Given the description of an element on the screen output the (x, y) to click on. 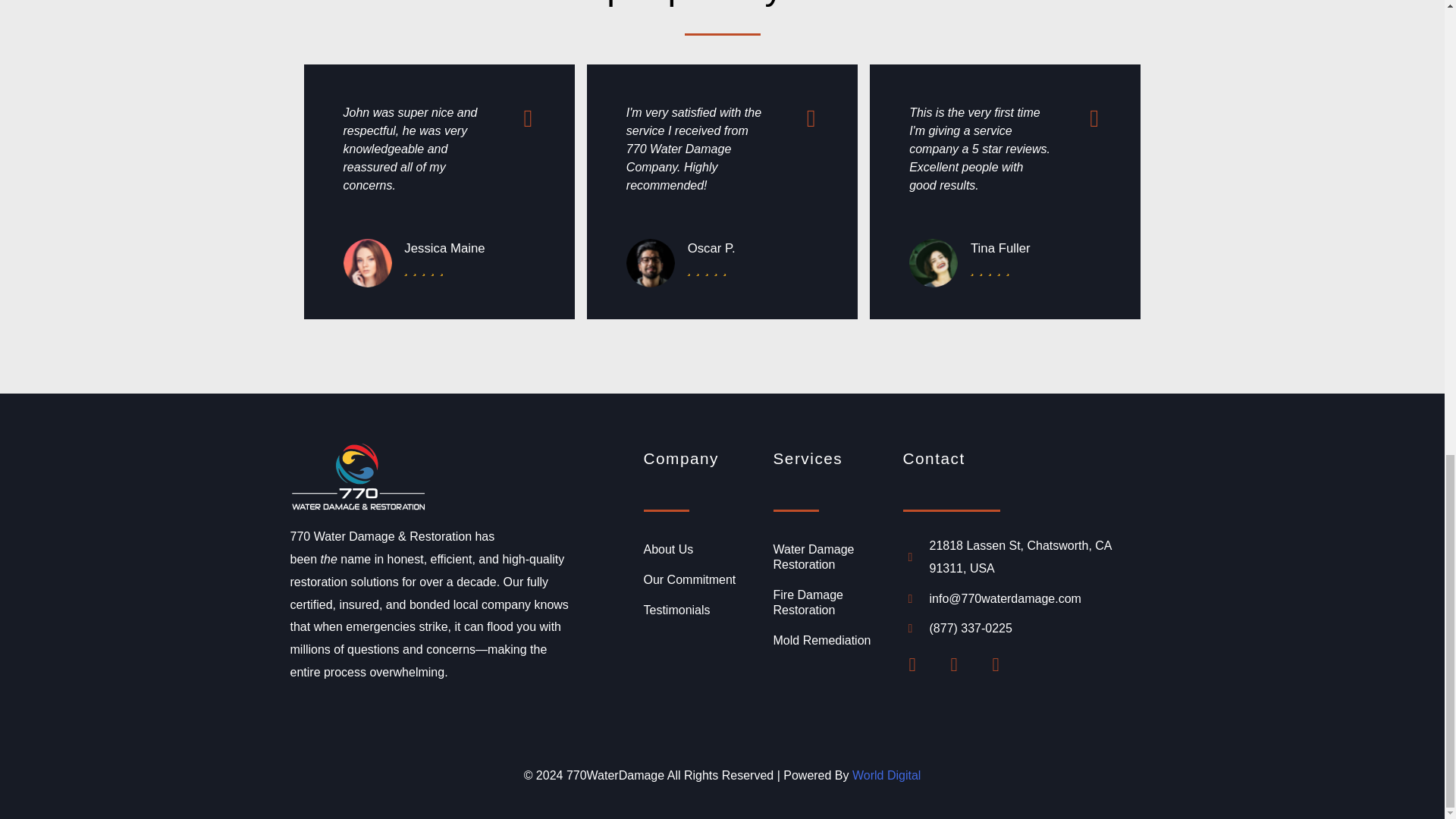
770logo-f (357, 476)
Fire Damage Restoration (830, 602)
Mold Remediation (830, 640)
Facebook (921, 673)
About Us (700, 549)
test-3 (933, 263)
test-2 (650, 263)
Water Damage Restoration (830, 556)
Our Commitment (700, 580)
Testimonials (700, 610)
